Given the description of an element on the screen output the (x, y) to click on. 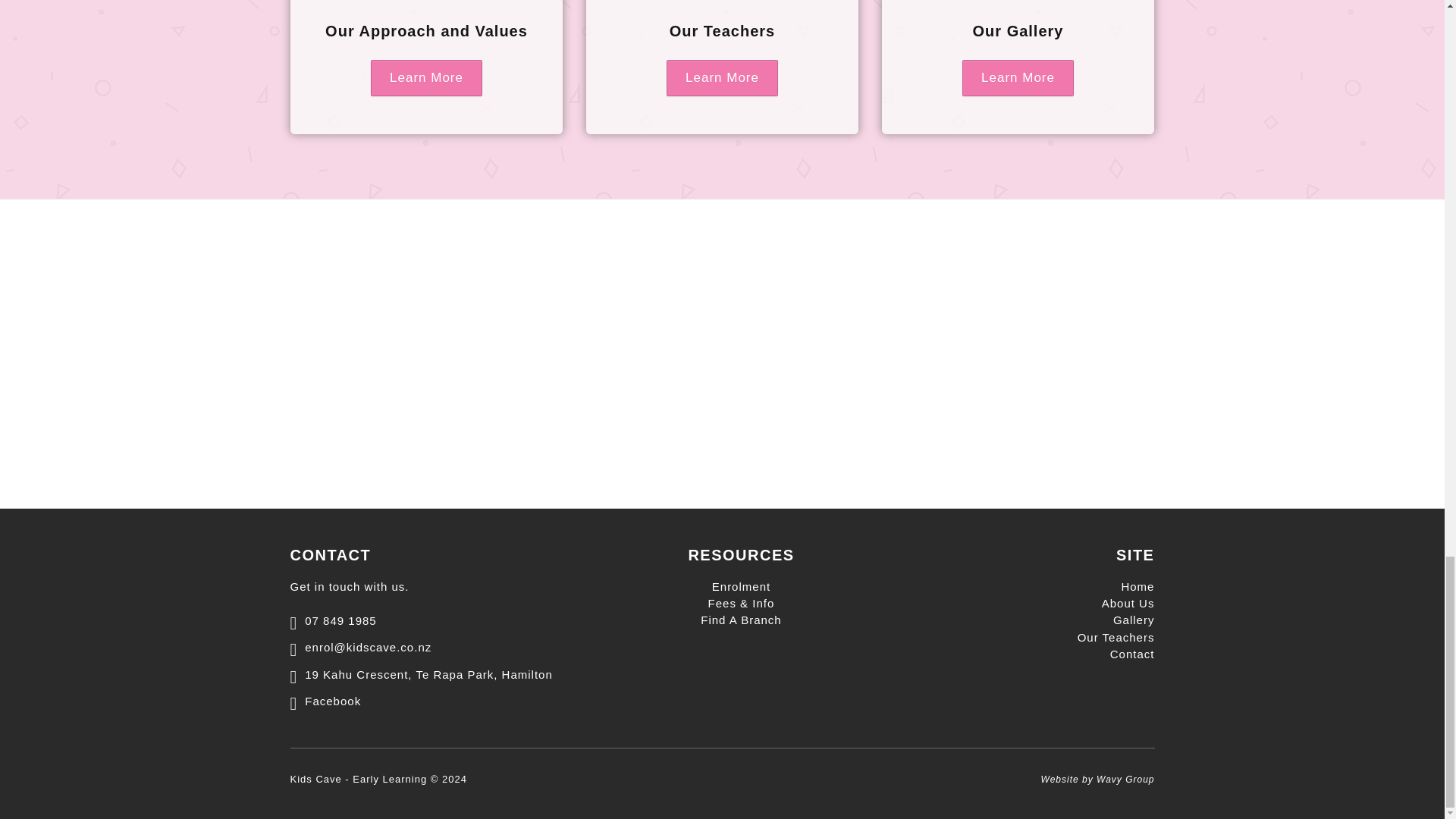
Learn More (426, 77)
07 849 1985 (332, 619)
Wavy Group (1125, 778)
Learn More (721, 77)
Learn More (1018, 77)
Facebook (325, 700)
Enrolment (740, 585)
19 Kahu Crescent, Te Rapa Park, Hamilton (420, 673)
Kids Cave - Early Learning (357, 778)
Our Gallery (1018, 30)
